Given the description of an element on the screen output the (x, y) to click on. 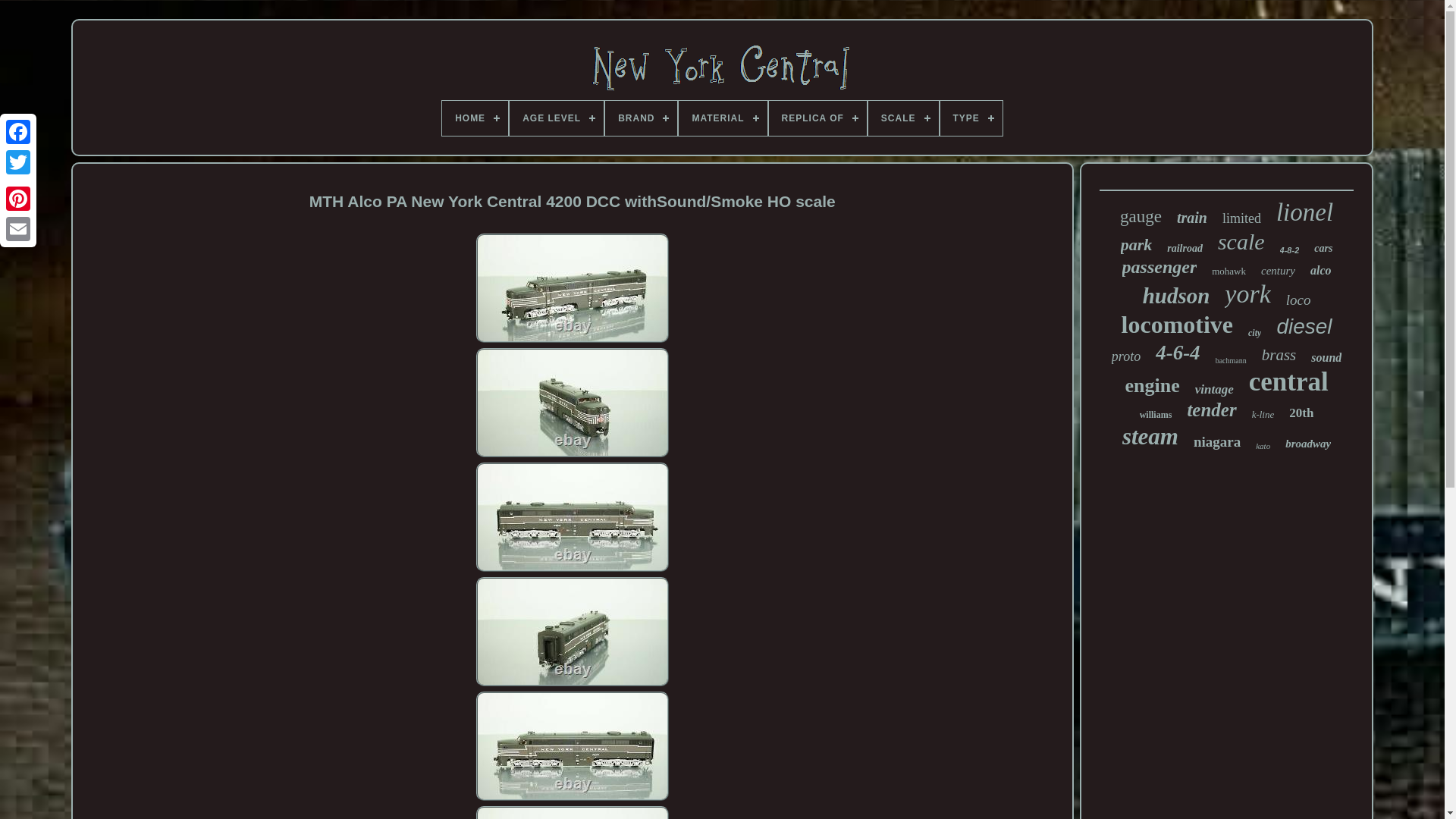
AGE LEVEL (556, 117)
BRAND (641, 117)
HOME (475, 117)
Email (17, 228)
